Given the description of an element on the screen output the (x, y) to click on. 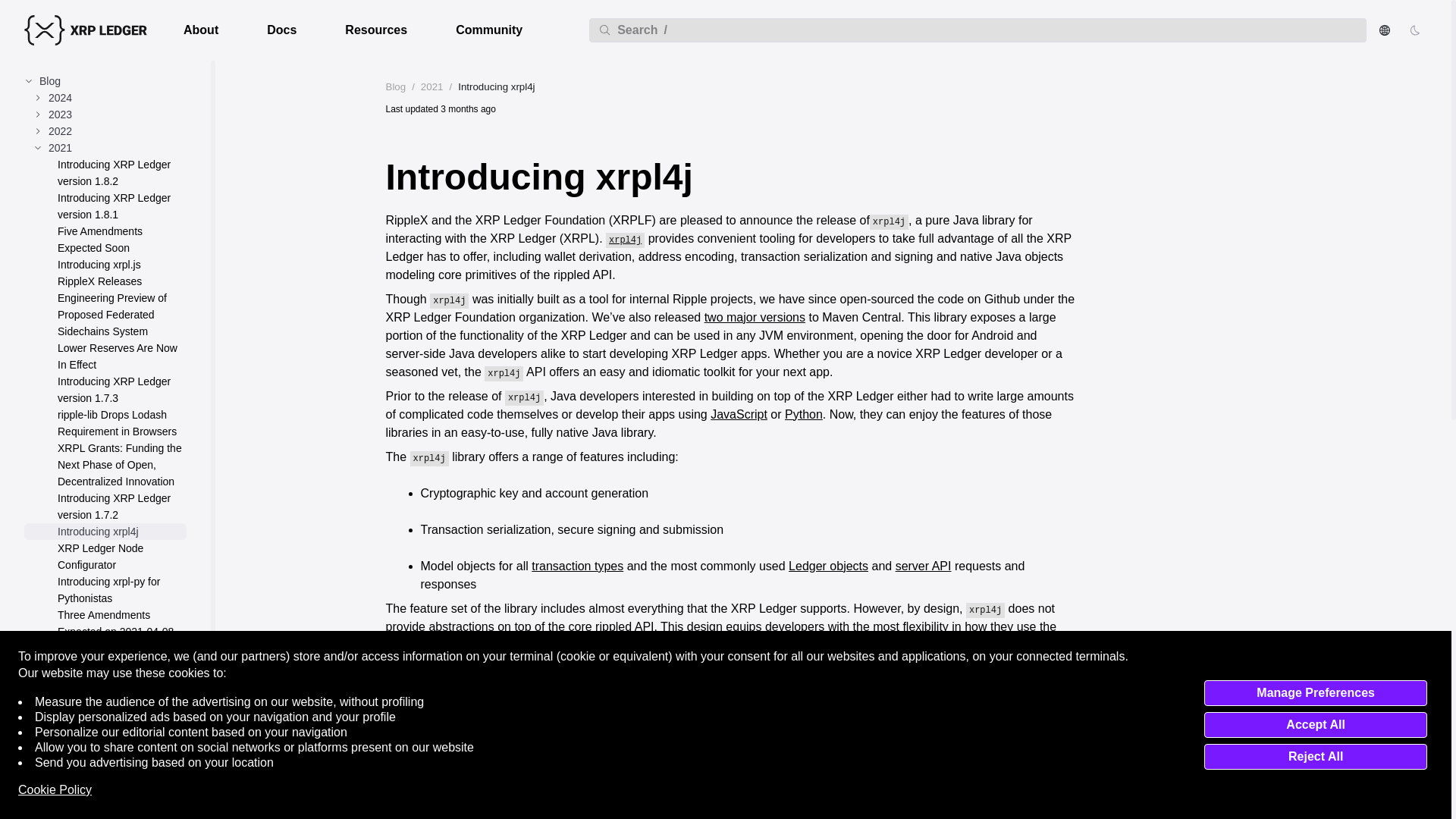
Manage Preferences (1315, 692)
About (200, 29)
Reject All (1315, 756)
Resources (375, 29)
Docs (281, 29)
Hide sidebar (193, 810)
Accept All (1315, 724)
Cookie Policy (54, 789)
